Given the description of an element on the screen output the (x, y) to click on. 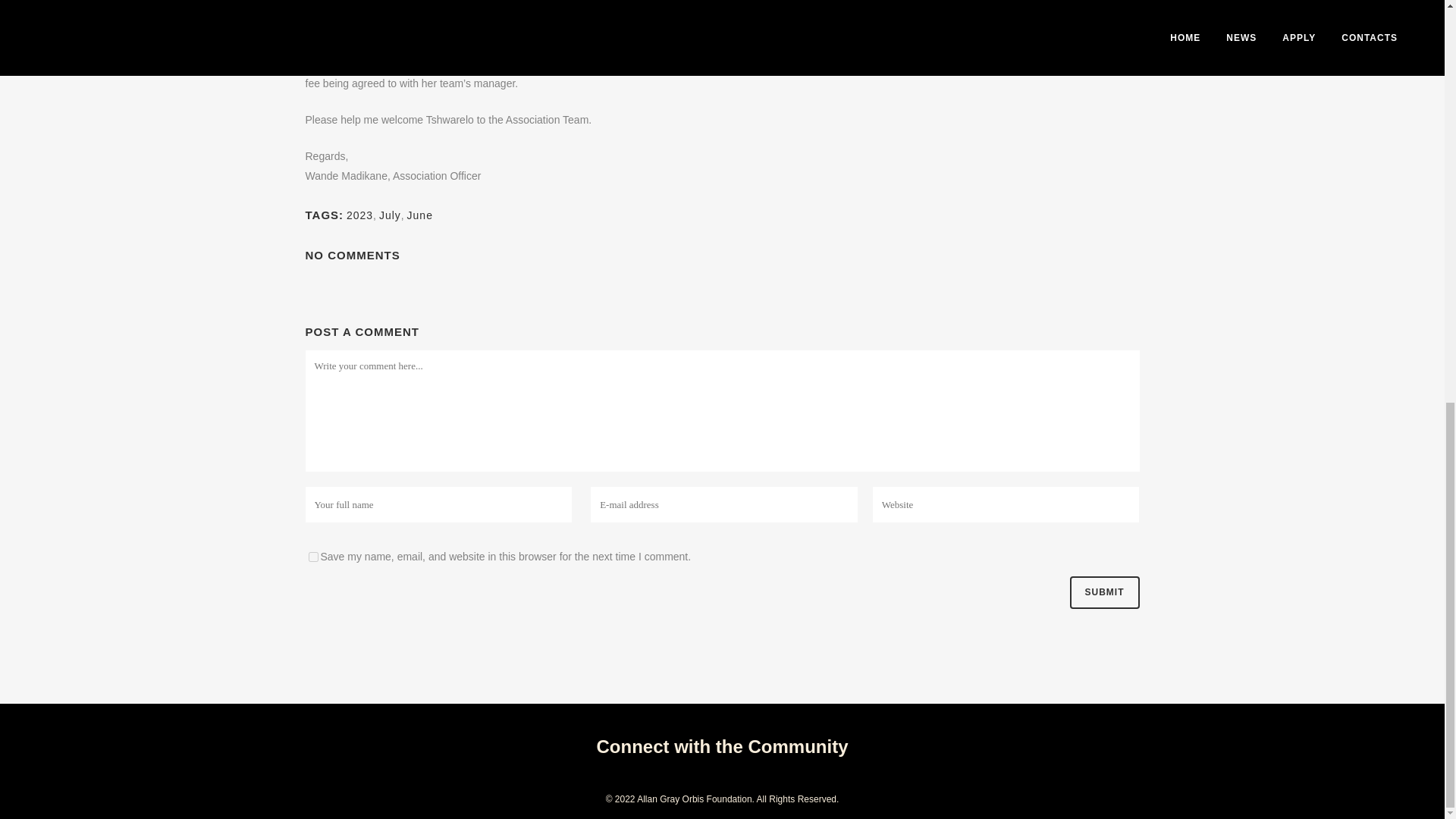
Submit (1103, 592)
Submit (1103, 592)
2023 (359, 215)
July (389, 215)
June (419, 215)
yes (312, 556)
